Given the description of an element on the screen output the (x, y) to click on. 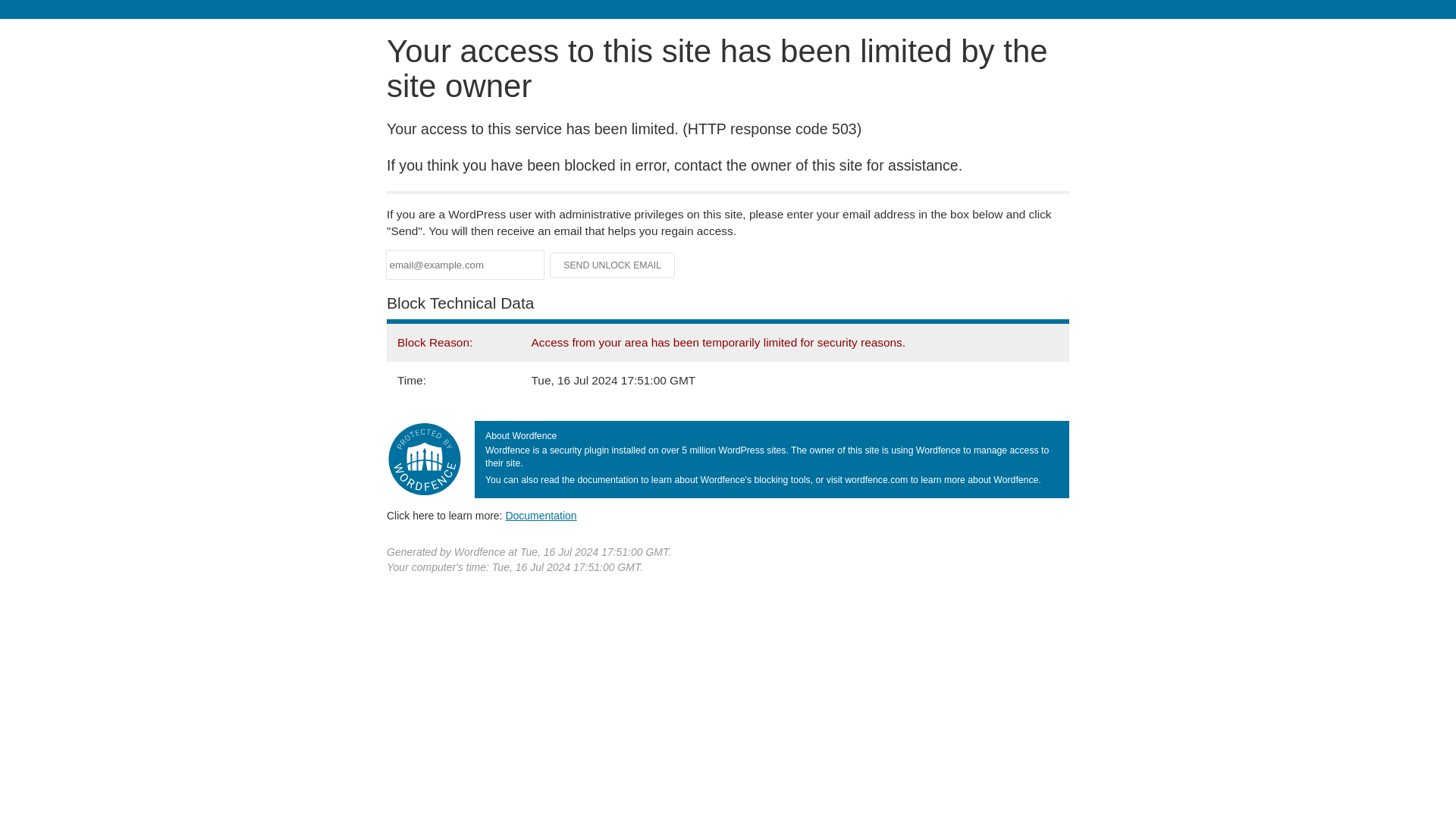
Documentation (540, 515)
Send Unlock Email (612, 265)
Send Unlock Email (612, 265)
